Given the description of an element on the screen output the (x, y) to click on. 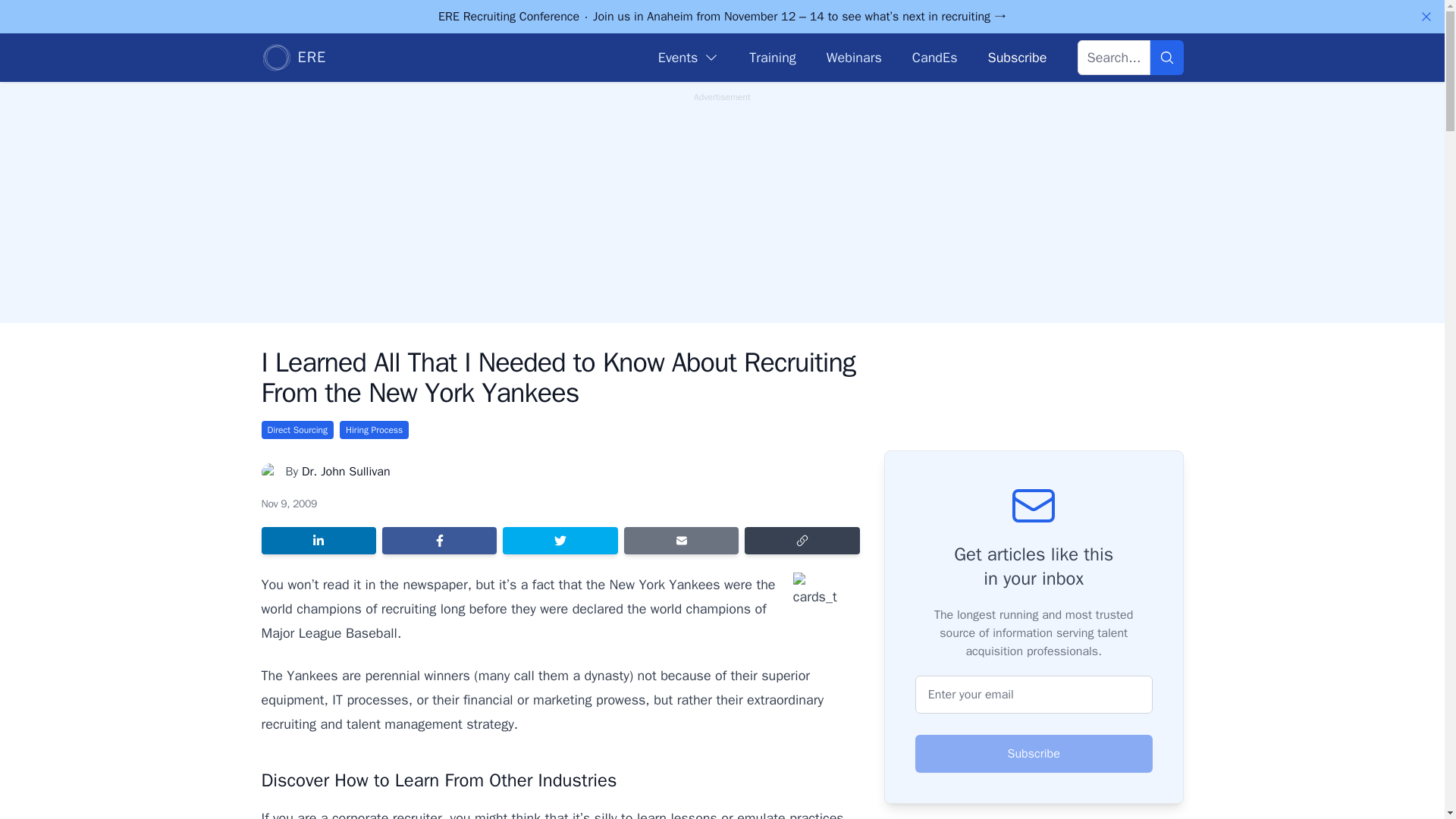
Events (688, 56)
Subscribe (1034, 753)
Training (771, 56)
ERE (293, 57)
Direct Sourcing (296, 429)
Webinars (854, 56)
CandEs (935, 56)
Dismiss (1425, 16)
Hiring Process (374, 429)
Dr. John Sullivan (345, 471)
Subscribe (1016, 56)
